Given the description of an element on the screen output the (x, y) to click on. 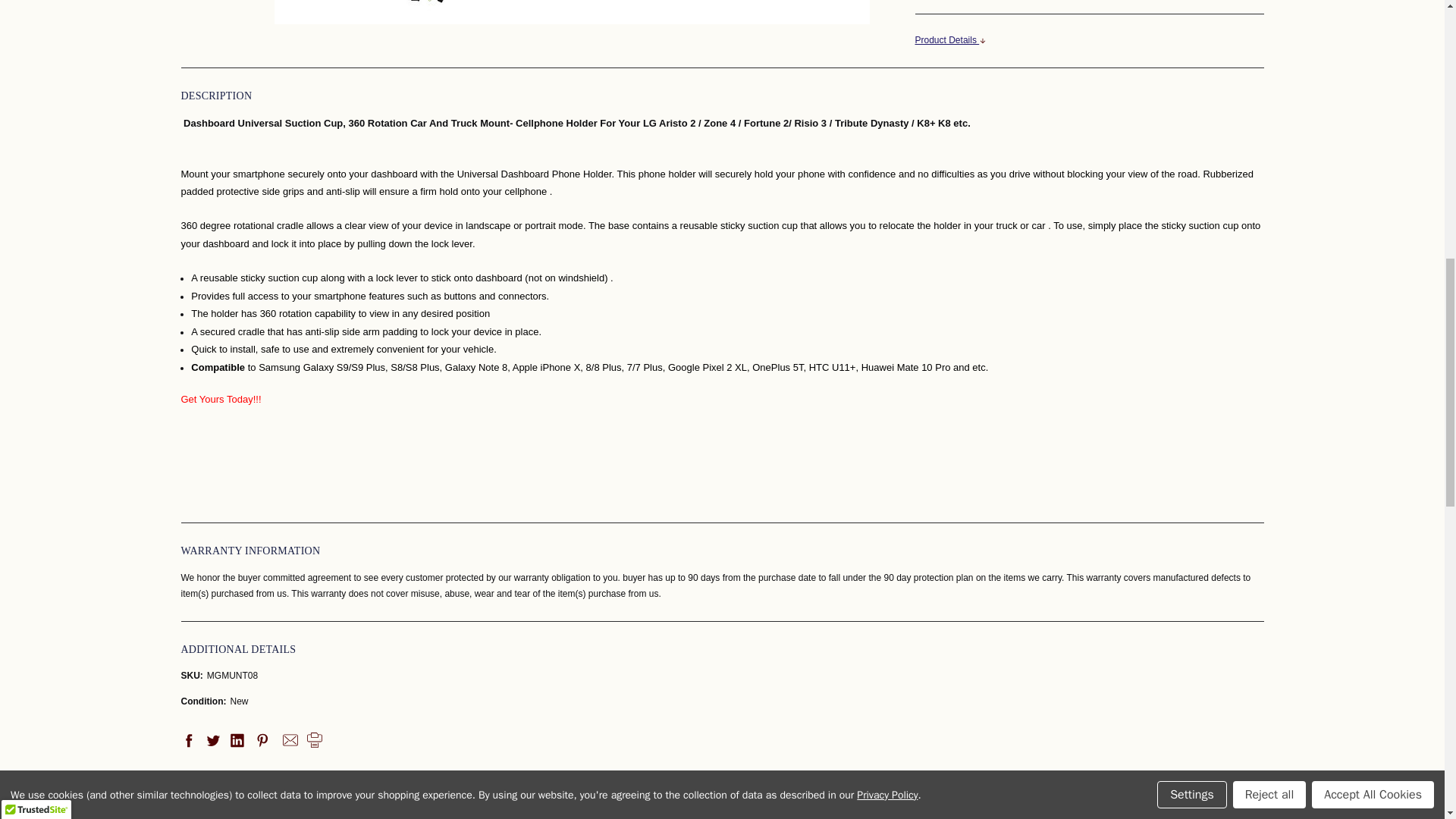
Product Details (1089, 40)
